Given the description of an element on the screen output the (x, y) to click on. 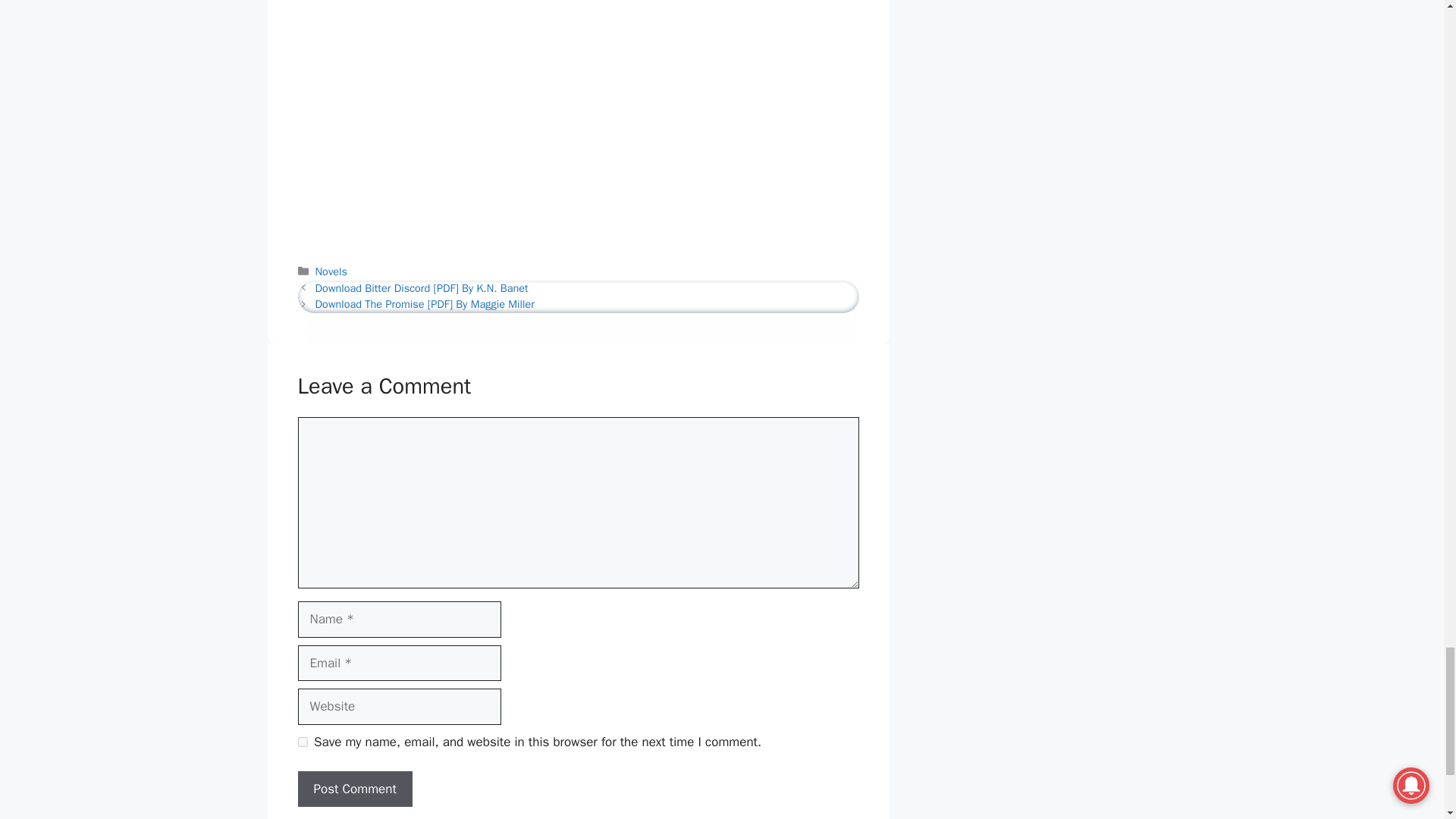
yes (302, 741)
Post Comment (354, 789)
